Given the description of an element on the screen output the (x, y) to click on. 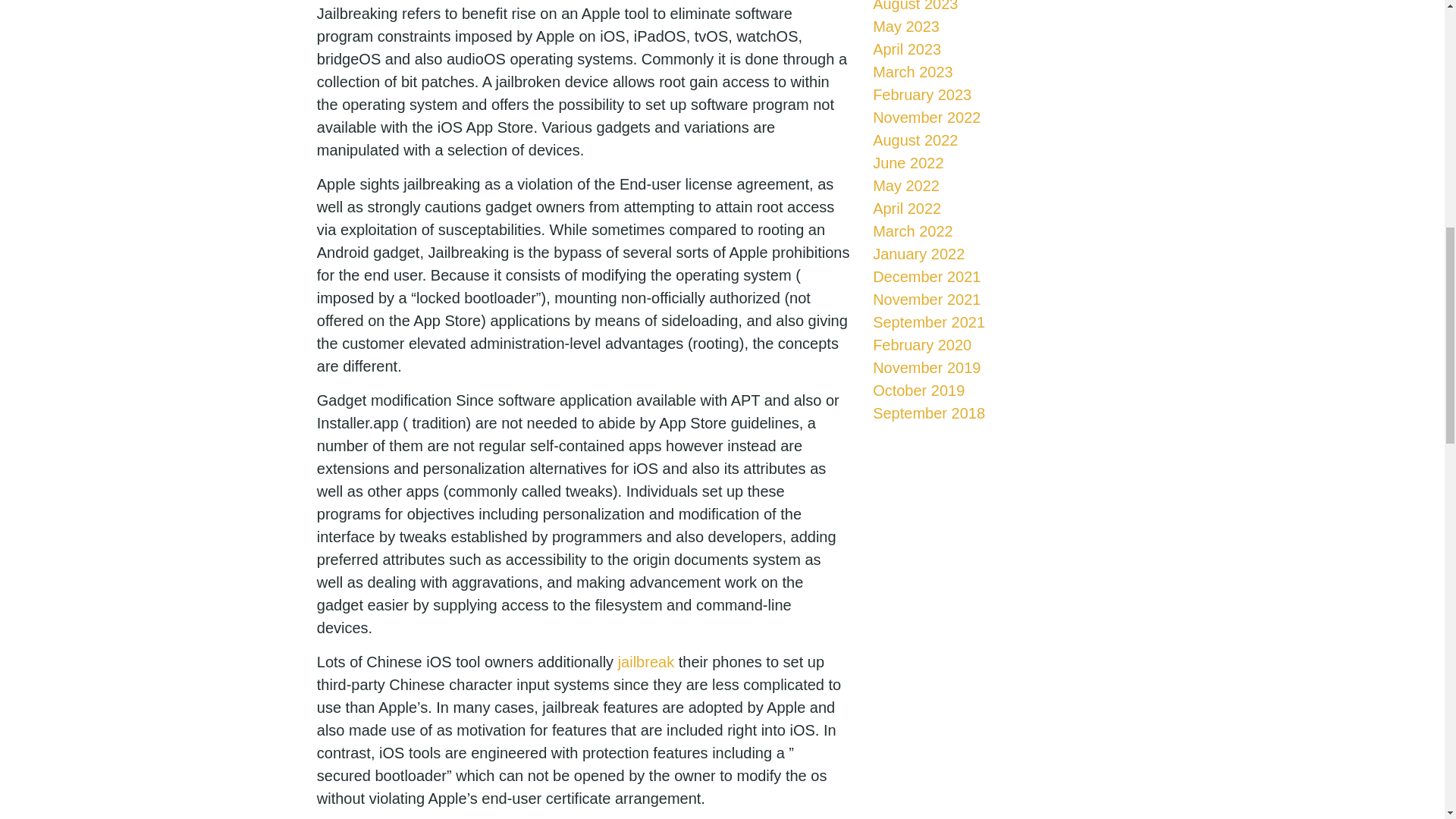
February 2023 (921, 94)
jailbreak (645, 661)
January 2022 (917, 253)
April 2022 (906, 208)
December 2021 (925, 276)
May 2022 (905, 185)
November 2022 (925, 117)
August 2022 (915, 139)
August 2023 (915, 6)
March 2023 (912, 71)
May 2023 (905, 26)
March 2022 (912, 230)
June 2022 (907, 162)
April 2023 (906, 48)
